Given the description of an element on the screen output the (x, y) to click on. 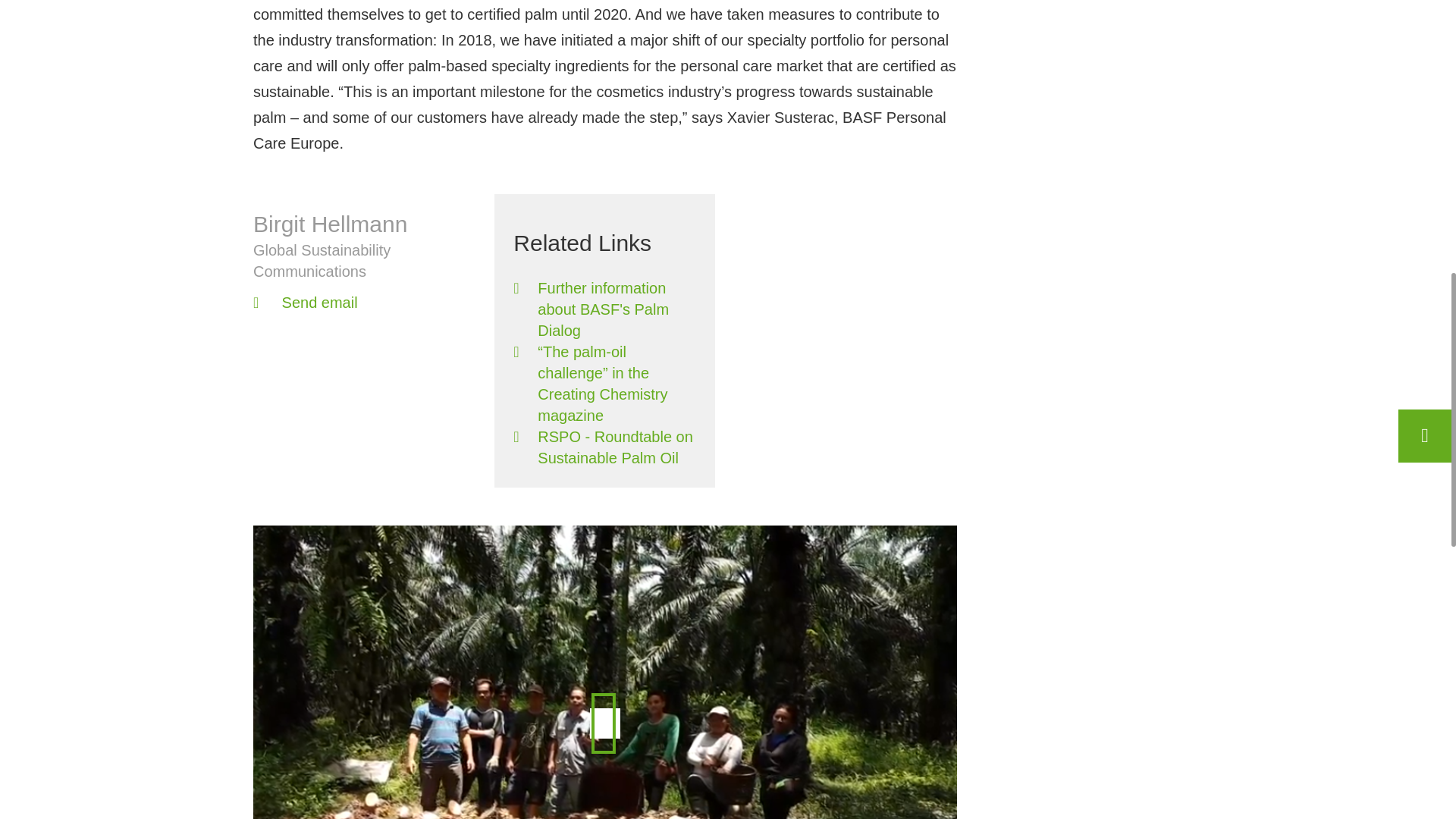
Send email (363, 302)
Further information about BASF's Palm Dialog (604, 309)
RSPO - Roundtable on Sustainable Palm Oil (604, 446)
Further information about BASF's Palm Dialog (604, 309)
RSPO - Roundtable on Sustainable Palm Oil (604, 446)
